Given the description of an element on the screen output the (x, y) to click on. 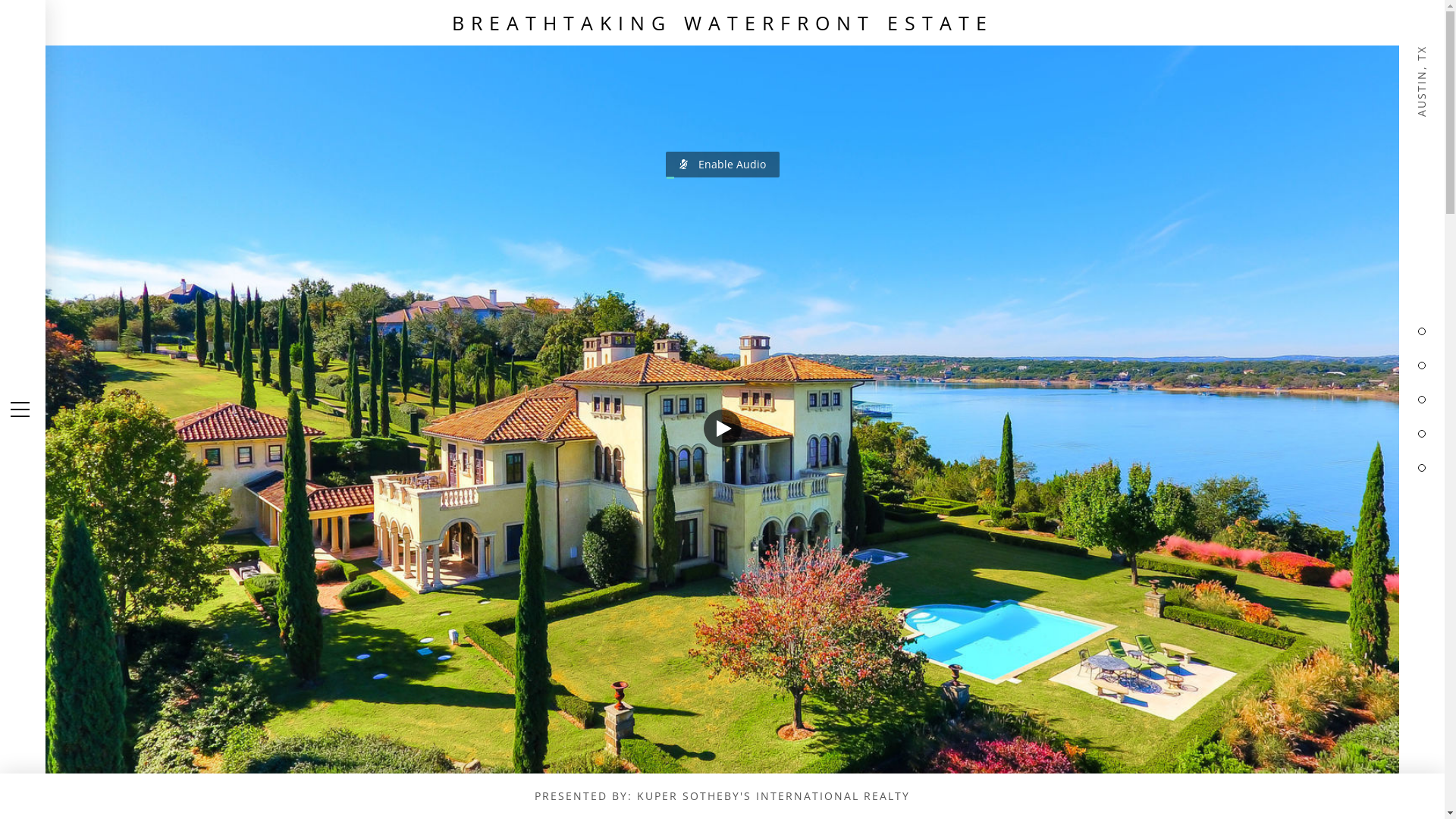
Listing Video Element type: hover (722, 409)
